Given the description of an element on the screen output the (x, y) to click on. 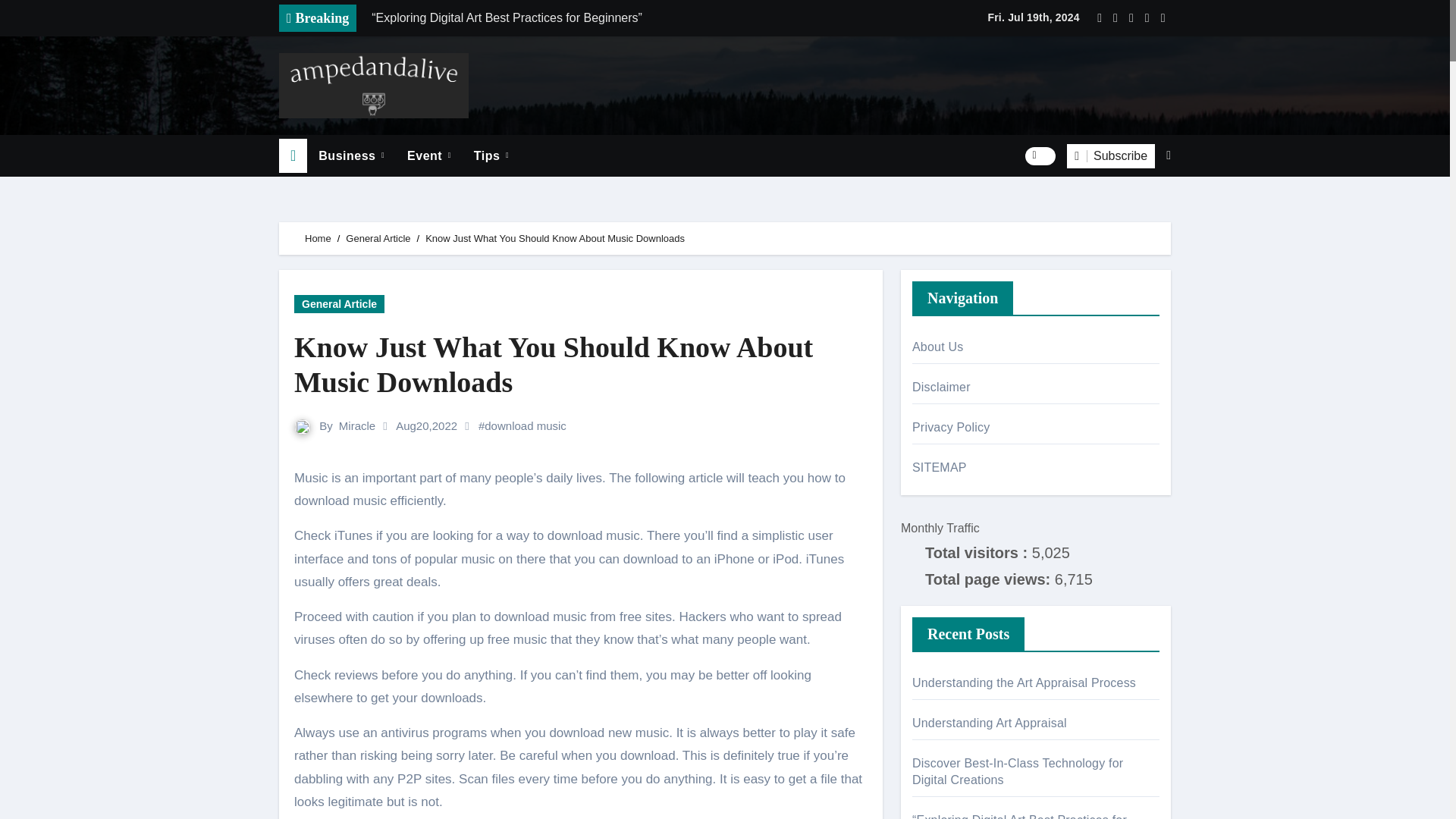
Tips (491, 155)
Know Just What You Should Know About Music Downloads (580, 364)
Business (351, 155)
Event (429, 155)
Home (293, 155)
